Given the description of an element on the screen output the (x, y) to click on. 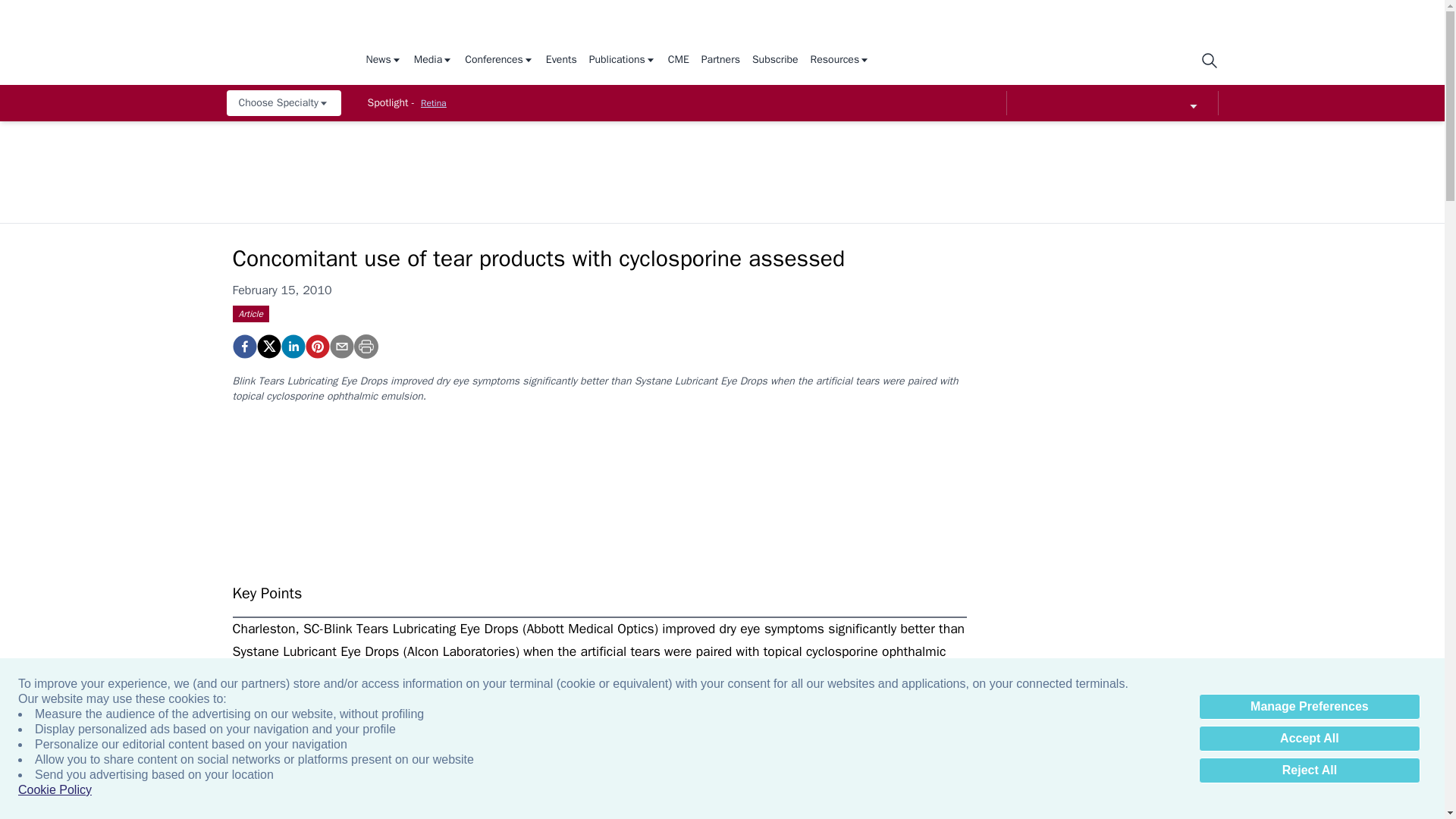
News (383, 60)
Cookie Policy (54, 789)
Media (432, 60)
Publications (622, 60)
Resources (840, 60)
Partners (720, 60)
Events (561, 60)
Reject All (1309, 769)
Concomitant use of tear products with cyclosporine assessed (316, 346)
CME (678, 60)
